Given the description of an element on the screen output the (x, y) to click on. 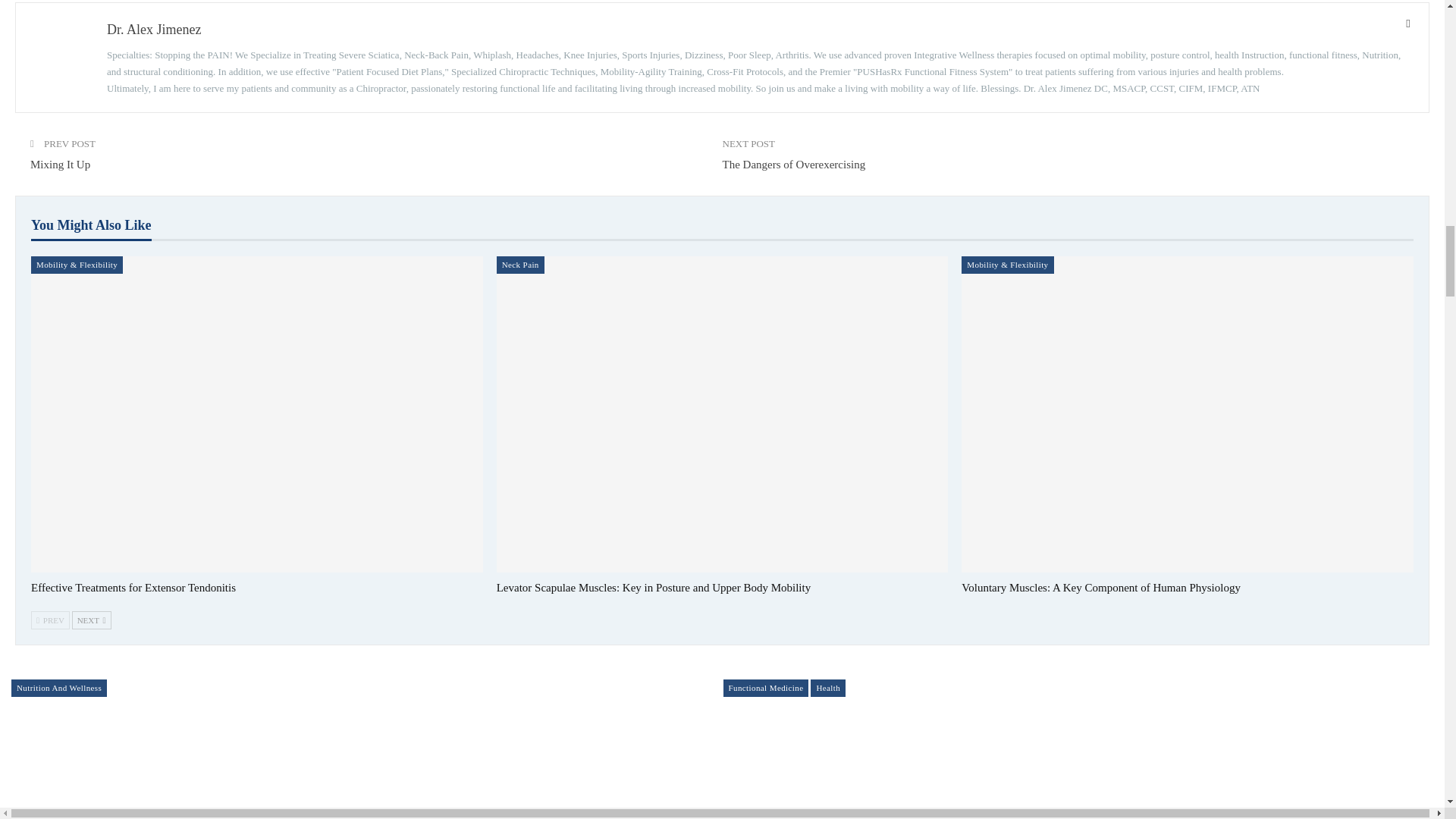
Effective Treatments for Extensor Tendonitis (132, 587)
Previous (49, 619)
Next (91, 619)
Voluntary Muscles: A Key Component of Human Physiology (1100, 587)
